Given the description of an element on the screen output the (x, y) to click on. 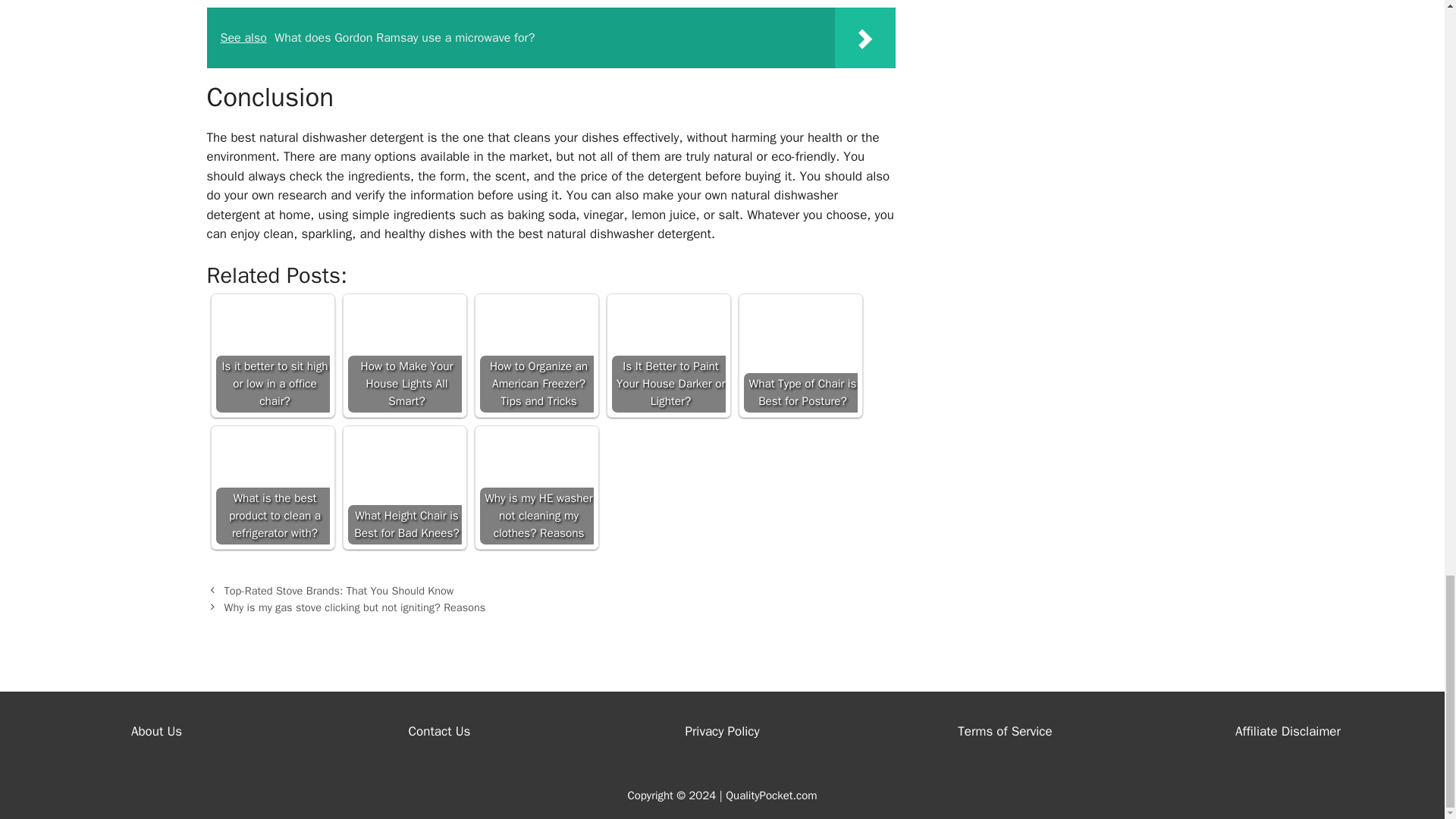
How to Organize an American Freezer? Tips and Tricks (535, 355)
Is it better to sit high or low in a office chair? (272, 355)
Why is my gas stove clicking but not igniting? Reasons (355, 607)
What is the best product to clean a refrigerator with? (272, 487)
Why is my HE washer not cleaning my clothes? Reasons (535, 487)
Is it better to sit high or low in a office chair? (272, 355)
How to Organize an American Freezer? Tips and Tricks (535, 355)
Is It Better to Paint Your House Darker or Lighter? (668, 355)
What Height Chair is Best for Bad Knees? (404, 487)
See also  What does Gordon Ramsay use a microwave for? (550, 37)
